Given the description of an element on the screen output the (x, y) to click on. 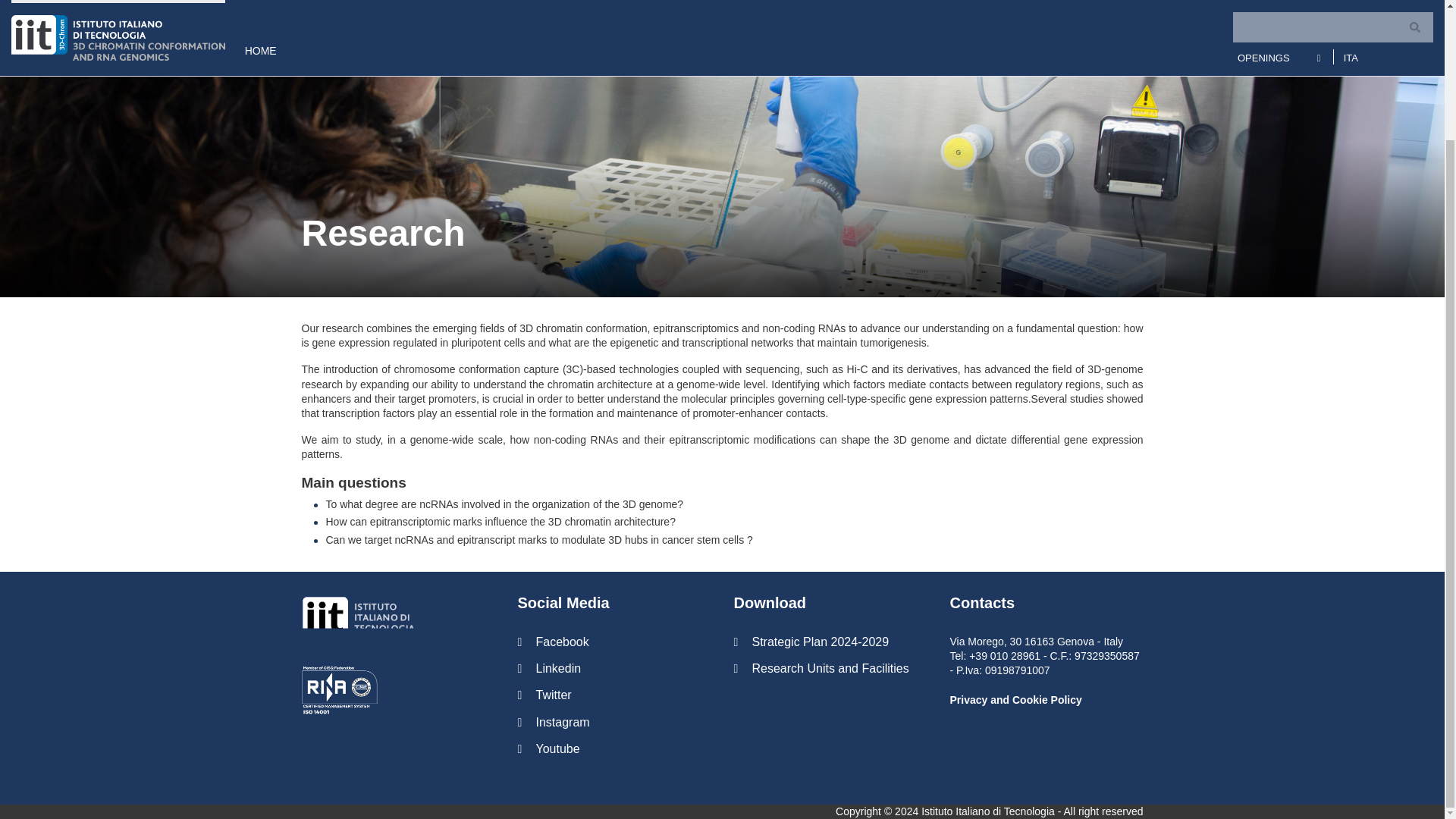
Research Units and Facilities (830, 667)
Strategic Plan 2024-2029 (830, 641)
Instagram (613, 721)
Privacy and Cookie Policy (1015, 699)
Facebook (613, 641)
Youtube (613, 748)
Twitter (613, 694)
Linkedin (613, 667)
